Given the description of an element on the screen output the (x, y) to click on. 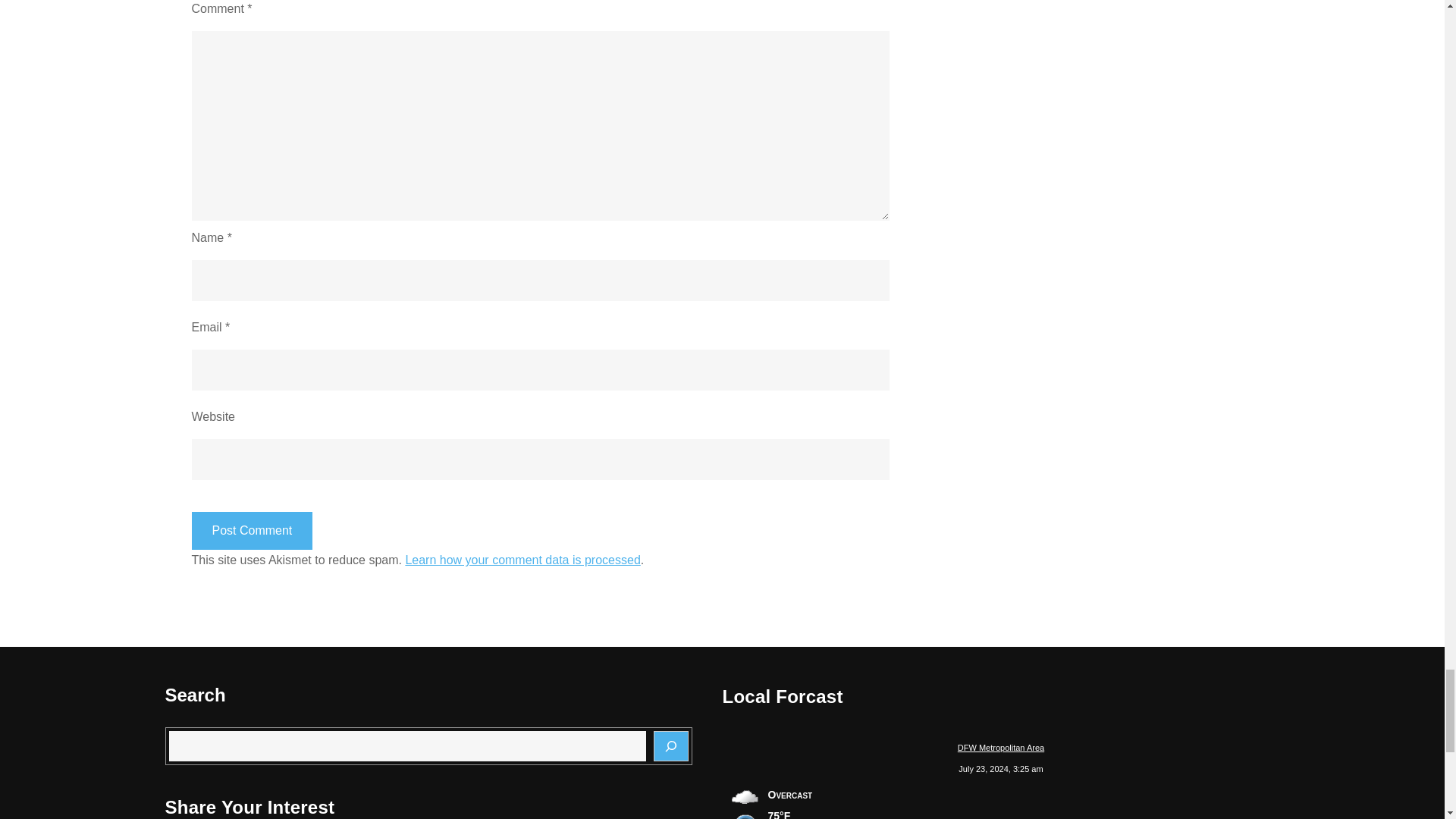
Post Comment (251, 530)
Post Comment (251, 530)
Learn how your comment data is processed (522, 559)
